Given the description of an element on the screen output the (x, y) to click on. 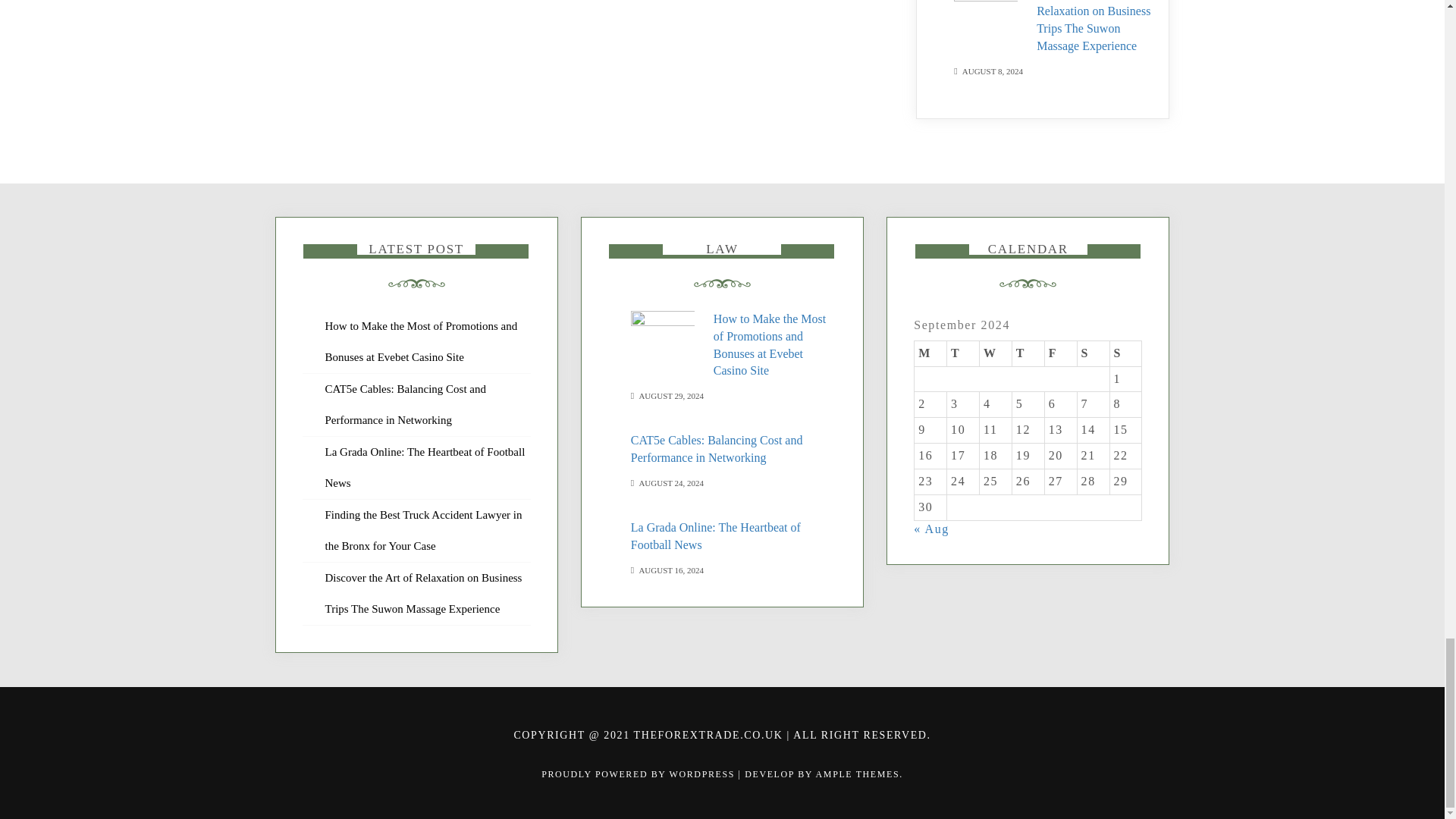
Thursday (1027, 353)
Wednesday (994, 353)
Tuesday (963, 353)
Saturday (1093, 353)
Monday (930, 353)
Sunday (1125, 353)
Friday (1060, 353)
